Given the description of an element on the screen output the (x, y) to click on. 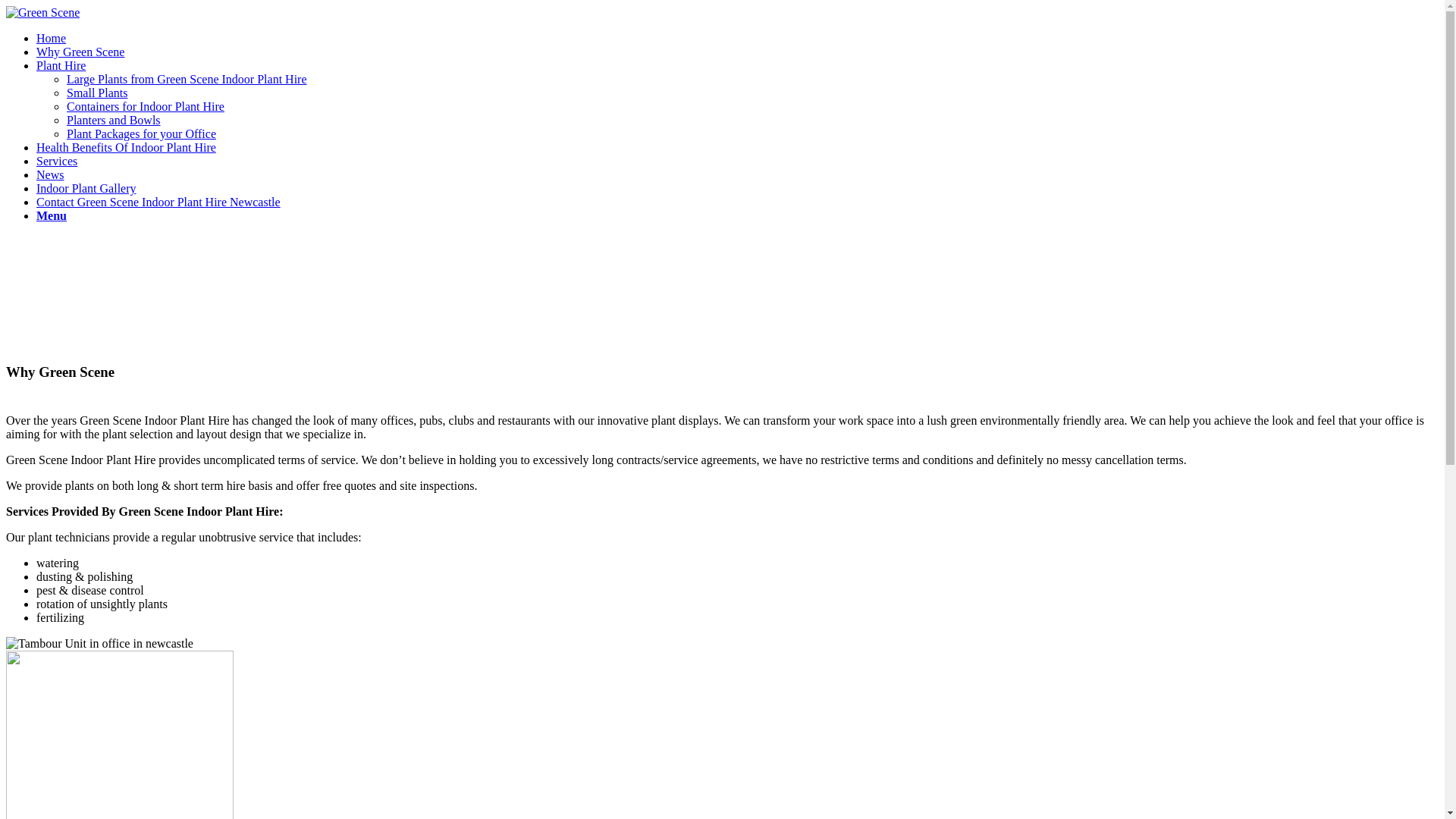
News Element type: text (49, 174)
Contact Green Scene Indoor Plant Hire Newcastle Element type: text (158, 201)
Menu Element type: text (51, 215)
Plant Hire Element type: text (60, 65)
Why Green Scene Element type: text (80, 51)
Home Element type: text (50, 37)
Small Plants Element type: text (96, 92)
Large Plants from Green Scene Indoor Plant Hire Element type: text (186, 78)
Services Element type: text (56, 160)
Containers for Indoor Plant Hire Element type: text (145, 106)
Health Benefits Of Indoor Plant Hire Element type: text (126, 147)
Planters and Bowls Element type: text (113, 119)
Plant Packages for your Office Element type: text (141, 133)
mother-in-laws-partition-planter-comcare Element type: hover (99, 643)
Indoor Plant Gallery Element type: text (86, 188)
